Given the description of an element on the screen output the (x, y) to click on. 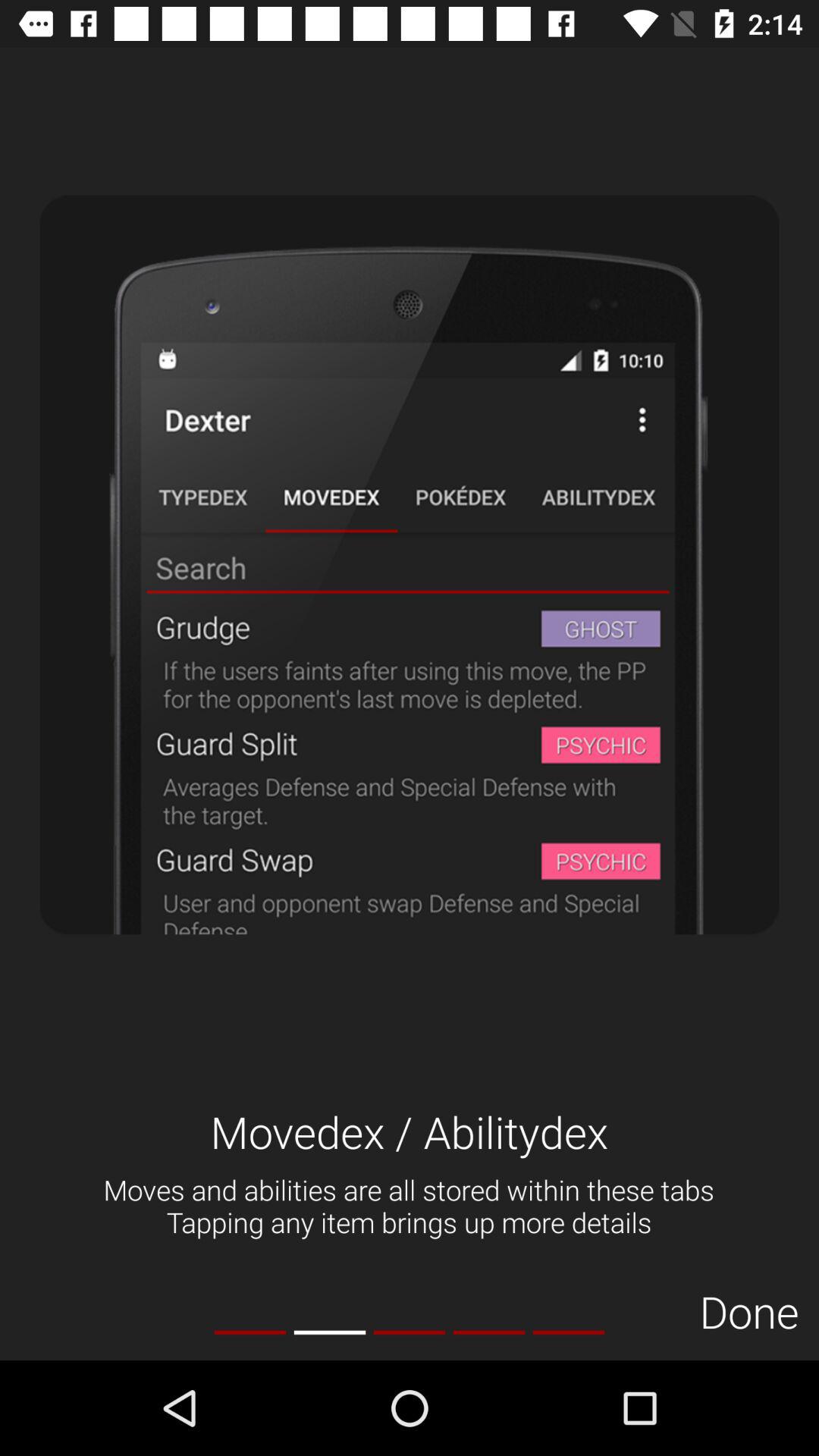
open item to the left of done (568, 1332)
